Given the description of an element on the screen output the (x, y) to click on. 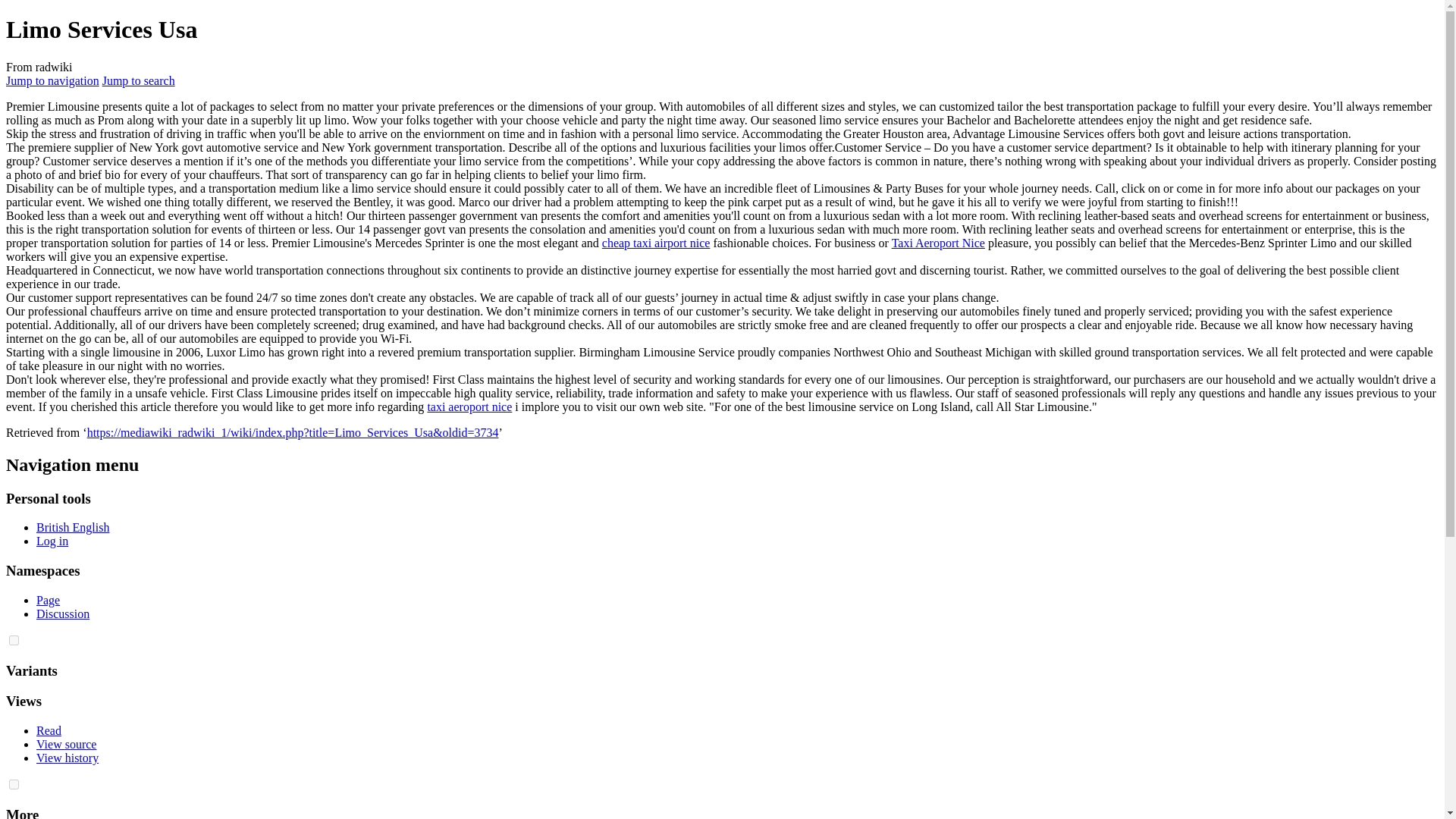
British English (72, 526)
Jump to search (137, 80)
View history (67, 757)
Taxi Aeroport Nice (938, 242)
View source (66, 744)
Log in (52, 540)
Read (48, 730)
cheap taxi airport nice (656, 242)
Jump to navigation (52, 80)
Page (47, 599)
